Given the description of an element on the screen output the (x, y) to click on. 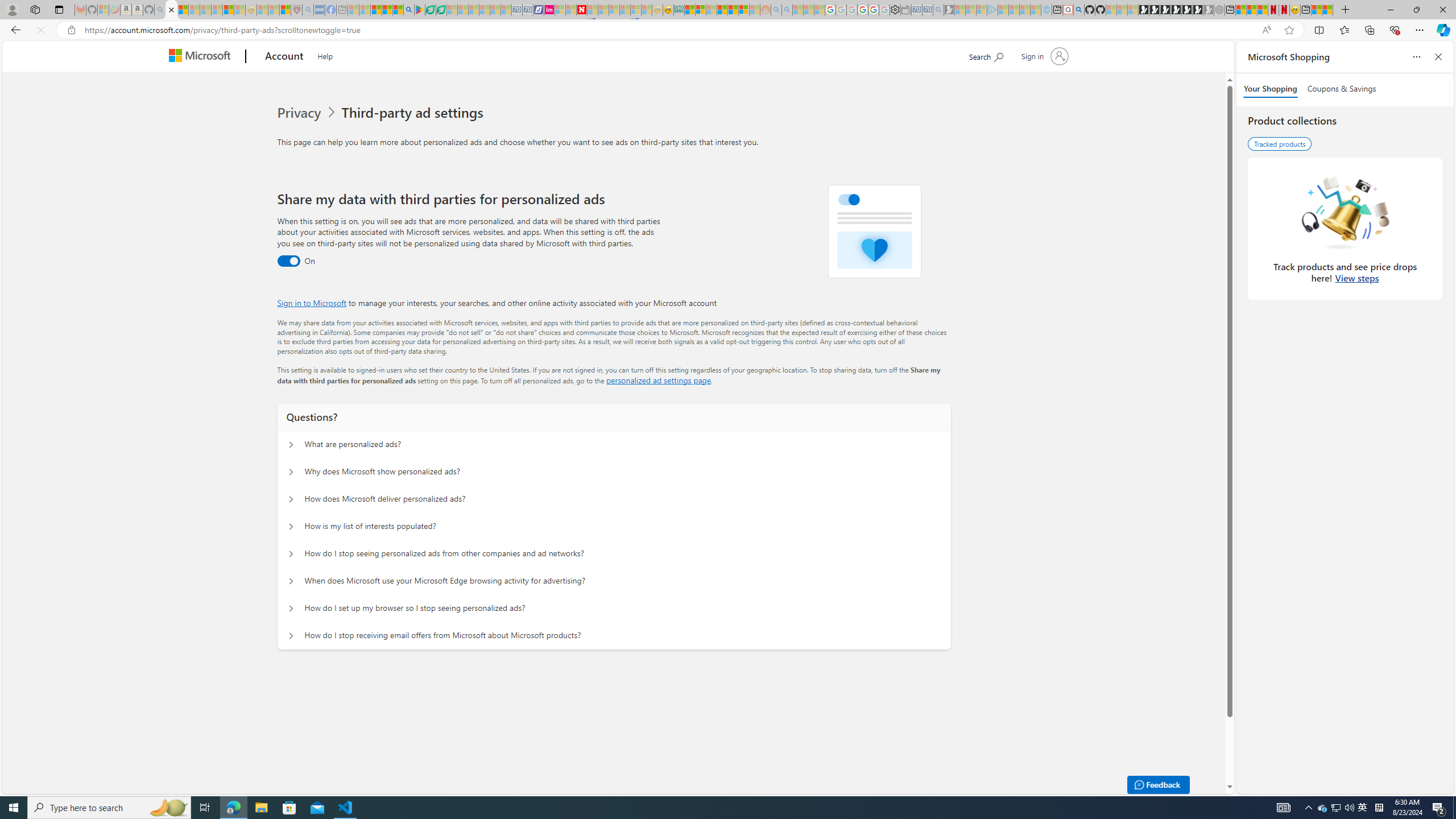
Third-party ad settings (414, 112)
Expert Portfolios (721, 9)
